Given the description of an element on the screen output the (x, y) to click on. 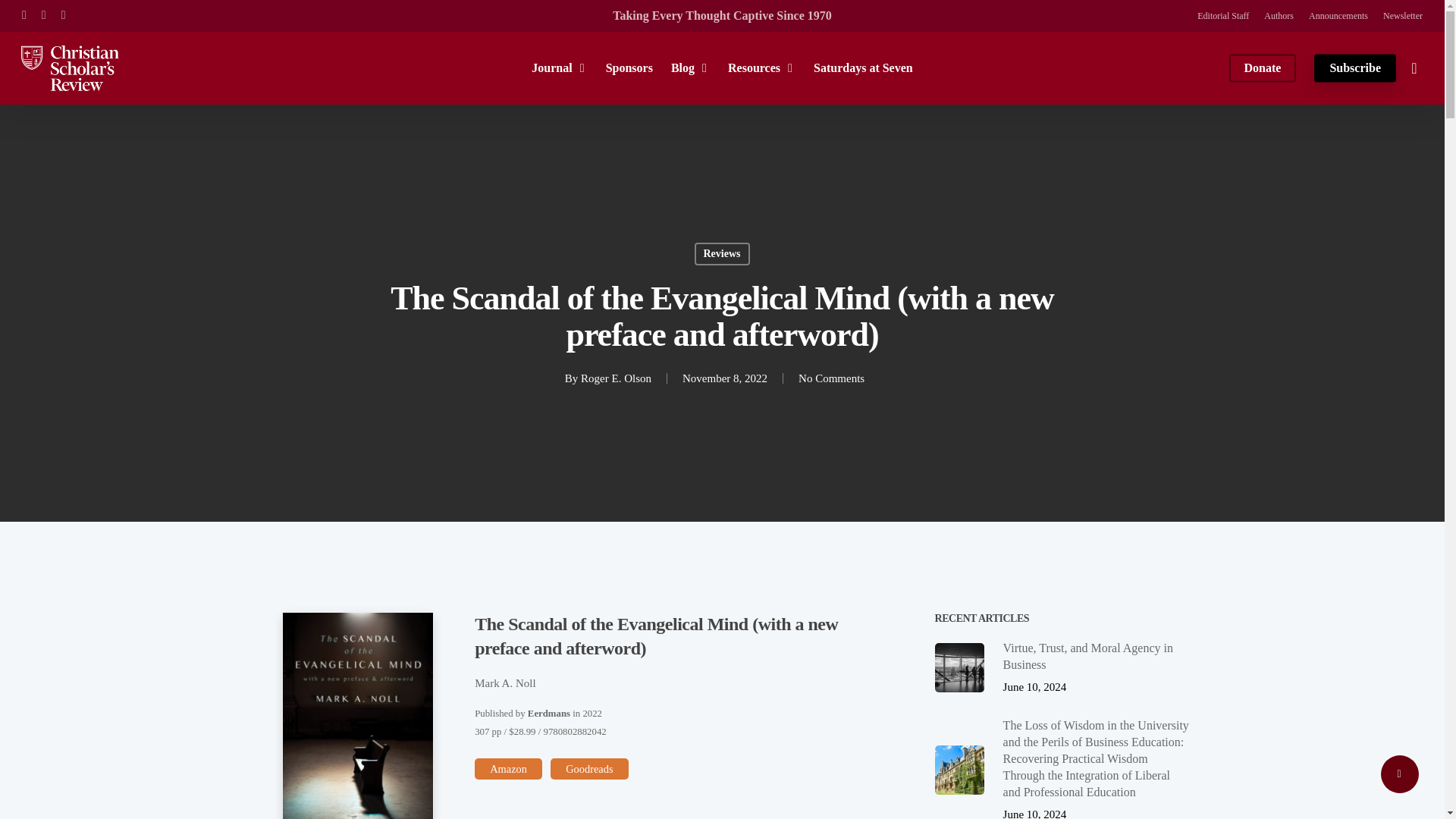
Journal (558, 67)
Authors (1278, 15)
Editorial Staff (1222, 15)
Sponsors (628, 67)
Announcements (1338, 15)
Posts by Roger E. Olson (615, 378)
Taking Every Thought Captive Since 1970 (721, 15)
Newsletter (1402, 15)
Blog (690, 67)
